Given the description of an element on the screen output the (x, y) to click on. 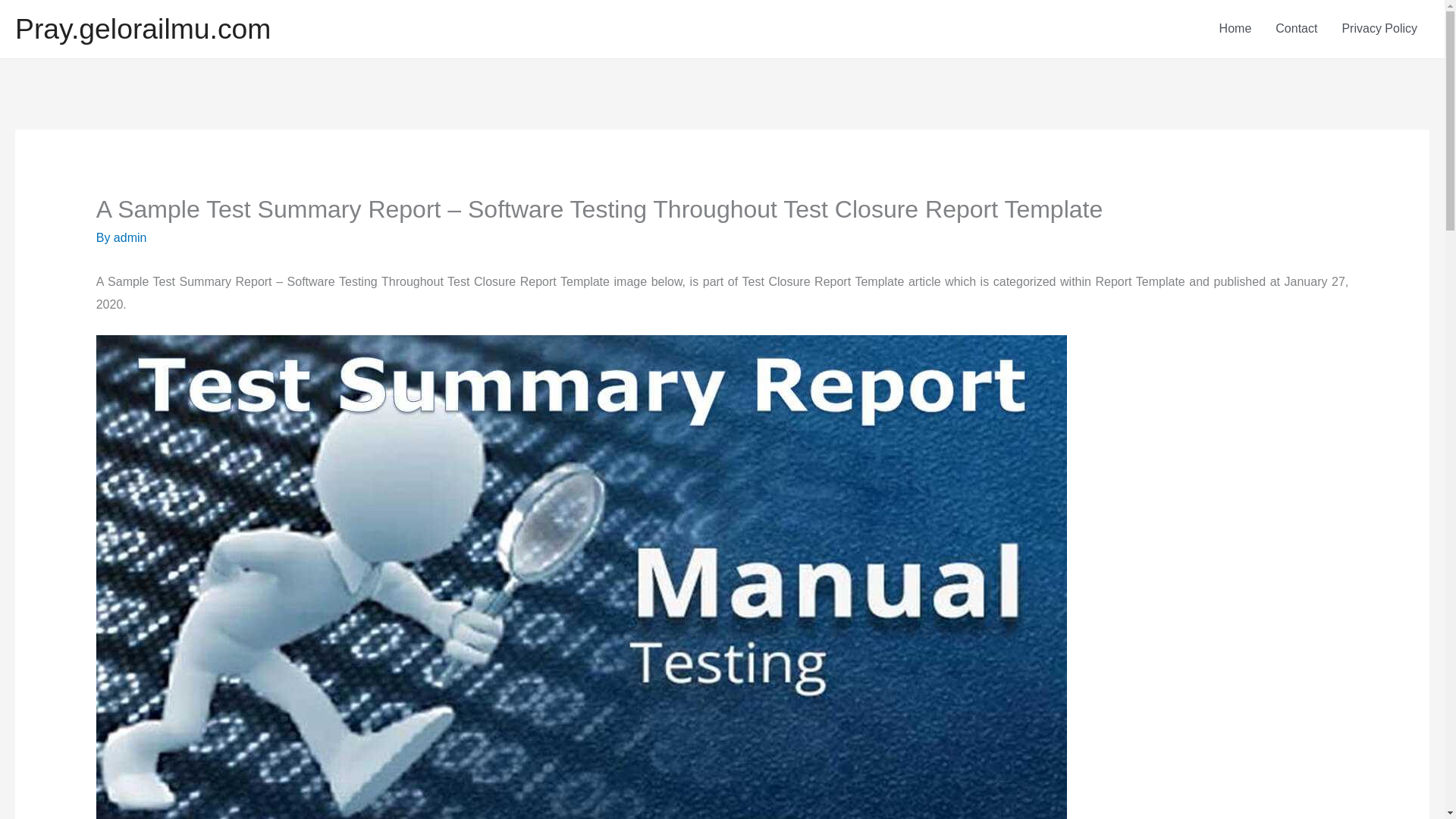
Pray.gelorailmu.com (142, 29)
View all posts by admin (130, 237)
admin (130, 237)
Privacy Policy (1379, 28)
Contact (1296, 28)
Home (1235, 28)
